Given the description of an element on the screen output the (x, y) to click on. 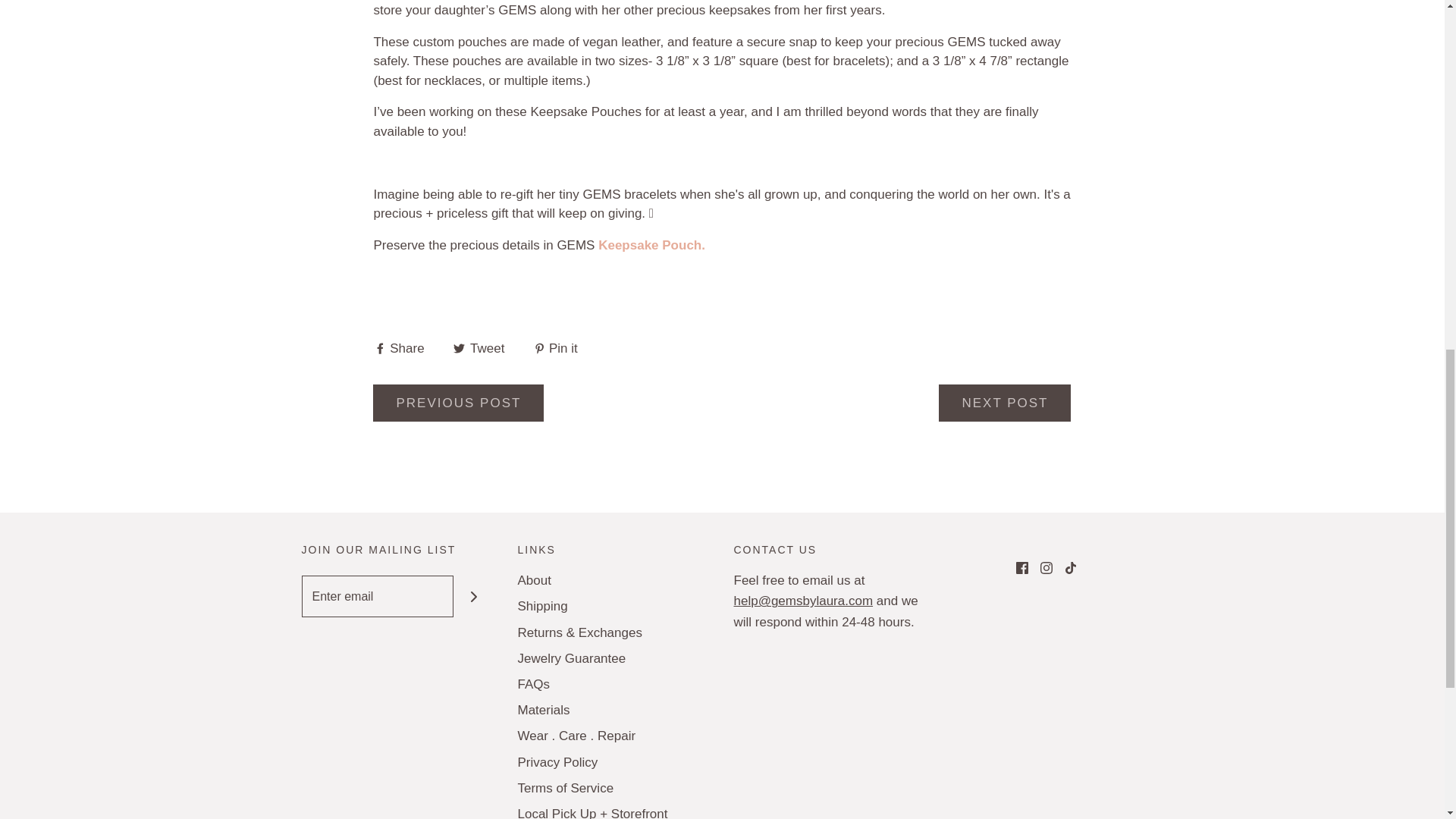
Facebook icon (1021, 567)
TikTok icon (1070, 567)
Instagram icon (1046, 567)
Have a question? (803, 600)
